Given the description of an element on the screen output the (x, y) to click on. 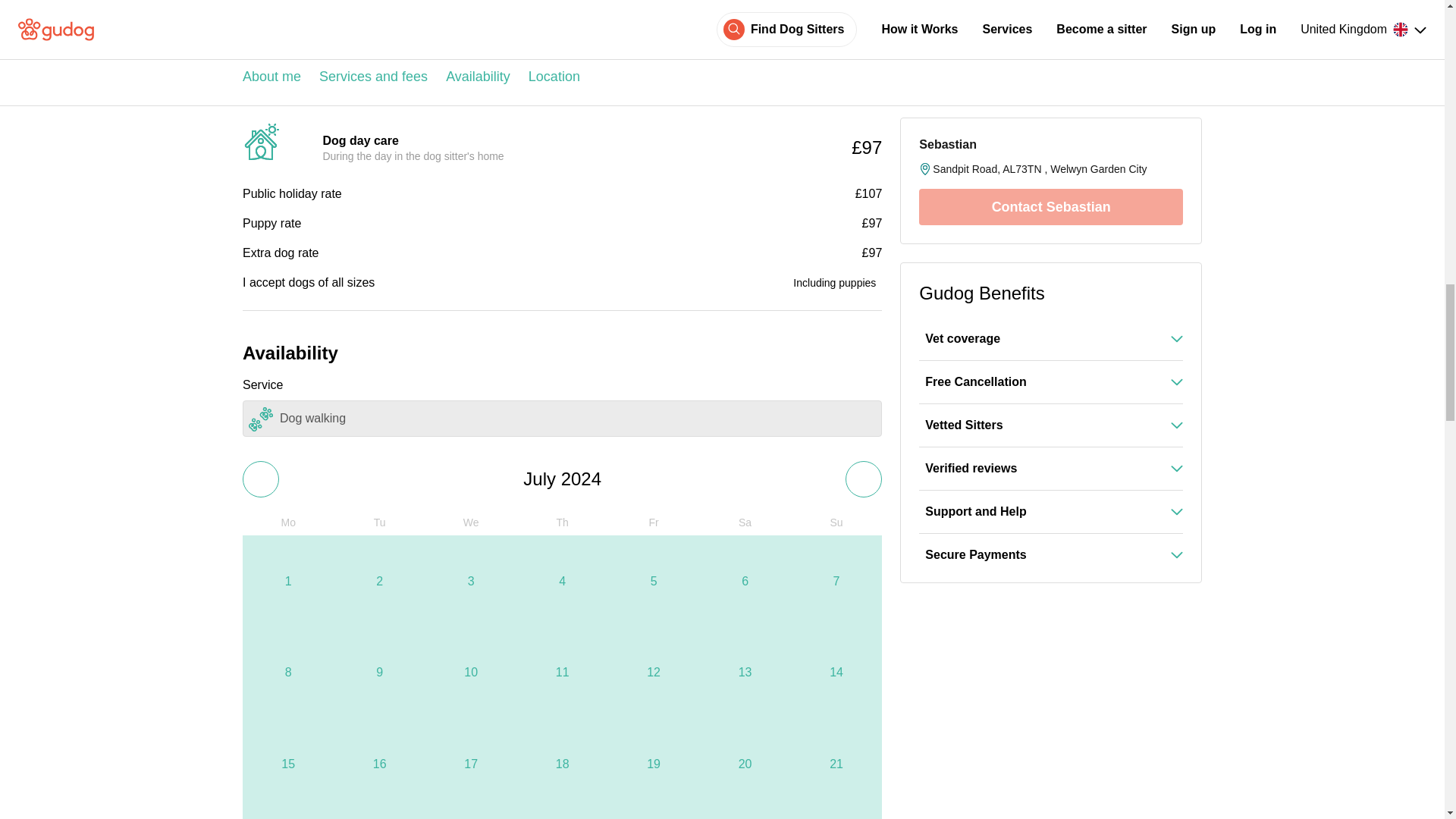
Wednesday (471, 522)
Dog walking (562, 418)
Thursday (561, 522)
Saturday (744, 522)
Monday (288, 522)
Tuesday (379, 522)
Sunday (836, 522)
